Given the description of an element on the screen output the (x, y) to click on. 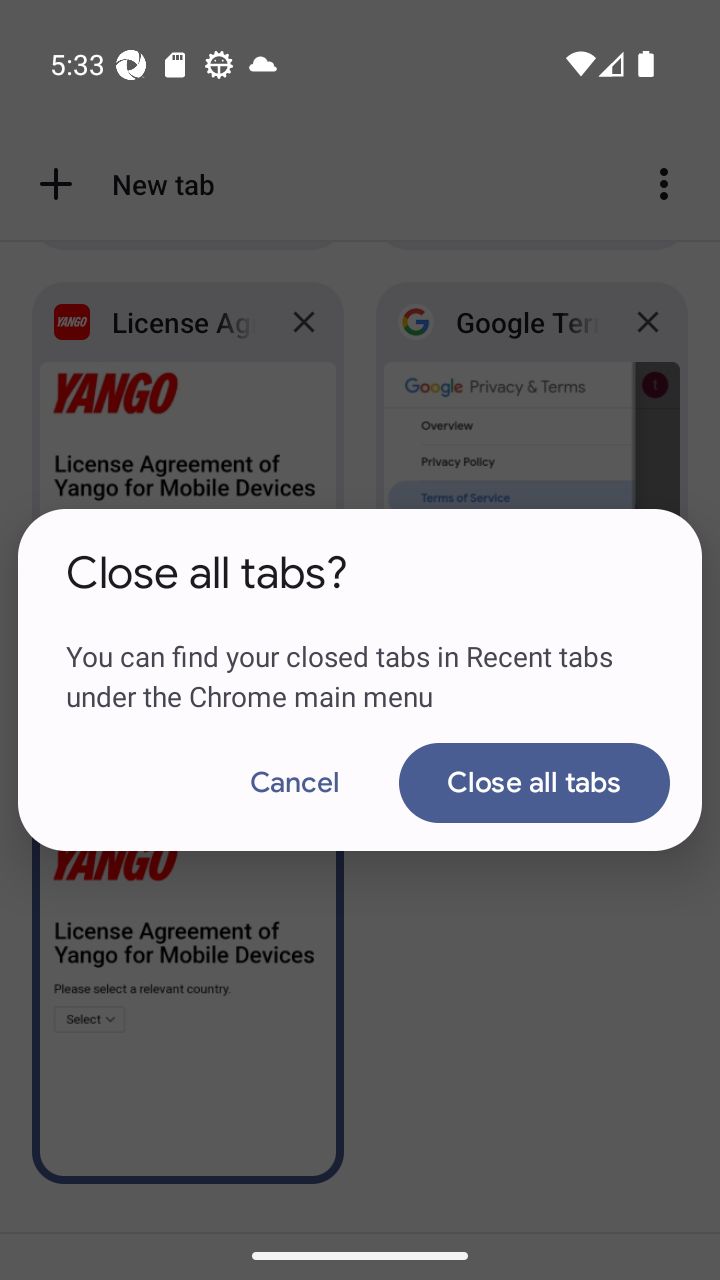
Cancel (295, 782)
Close all tabs (534, 782)
